Given the description of an element on the screen output the (x, y) to click on. 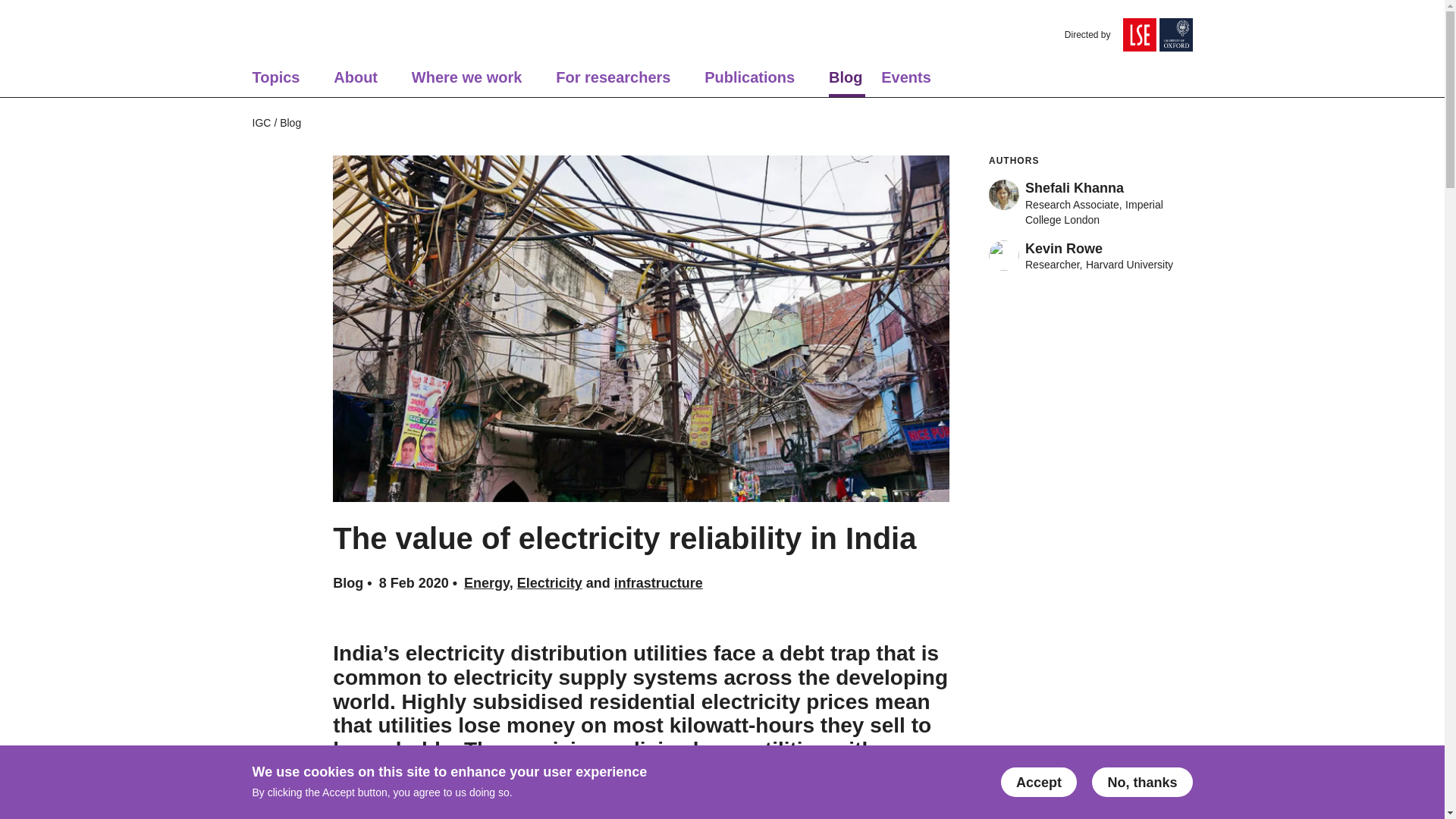
Topics (275, 81)
About (355, 81)
Affiliate logo (1175, 34)
Affiliate logo (1139, 34)
Where we work (467, 81)
Return to the homepage (285, 34)
